Given the description of an element on the screen output the (x, y) to click on. 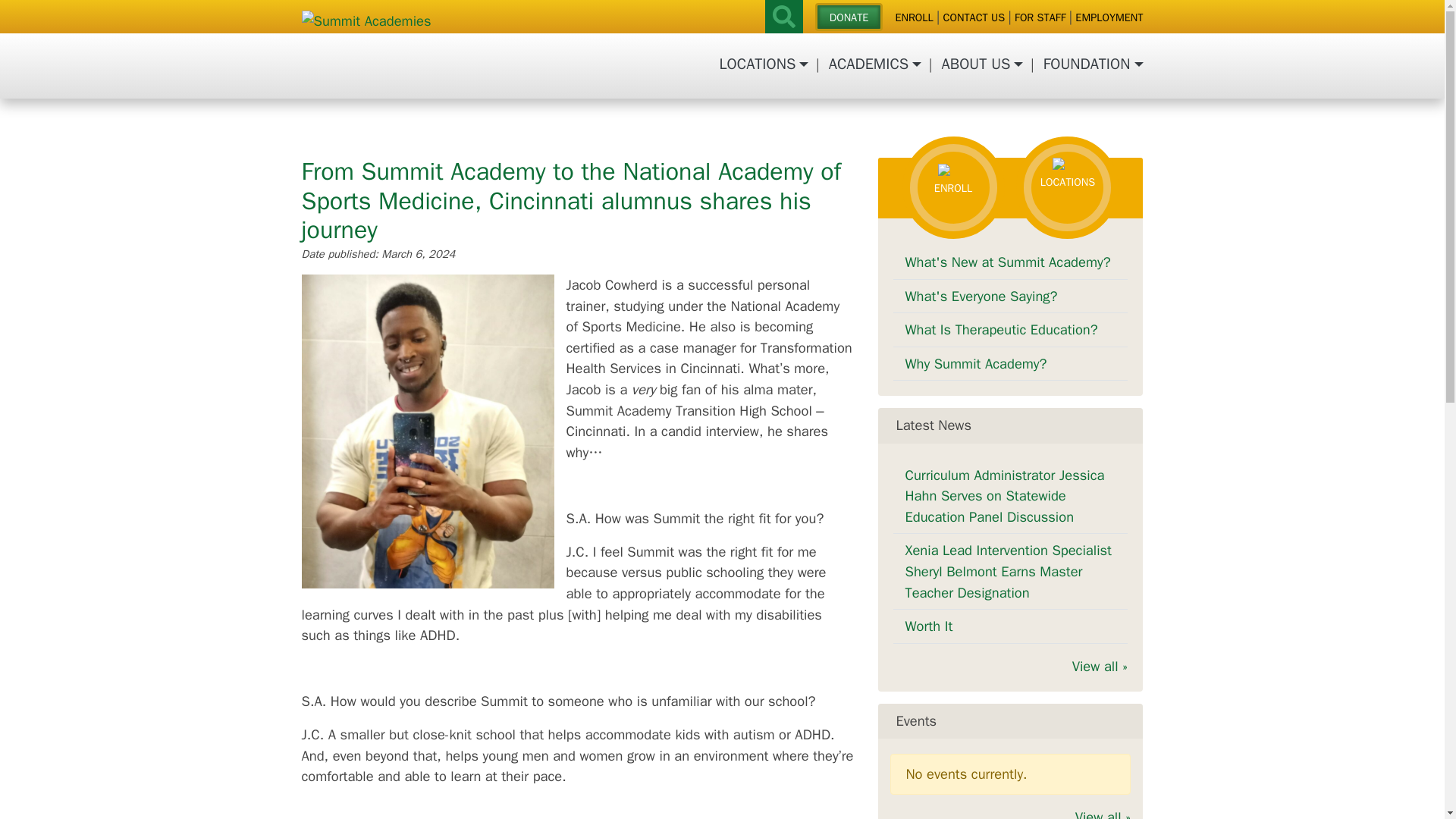
FOR STAFF (1039, 17)
LOCATIONS (761, 65)
ACADEMICS (871, 65)
CONTACT US (974, 17)
DONATE (849, 17)
EMPLOYMENT (1108, 17)
ENROLL (914, 17)
Locations (761, 65)
